Given the description of an element on the screen output the (x, y) to click on. 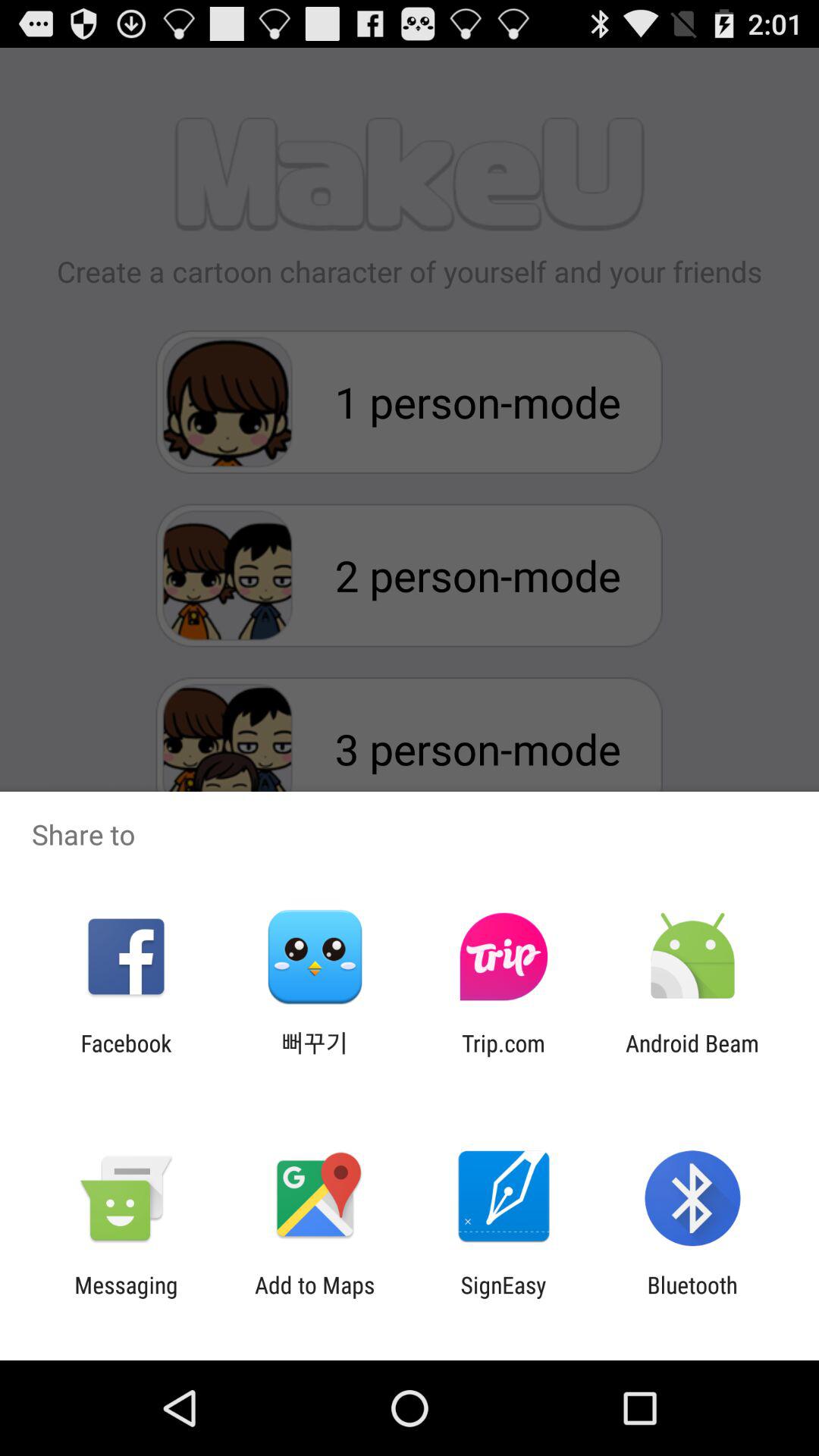
click trip.com icon (503, 1056)
